Given the description of an element on the screen output the (x, y) to click on. 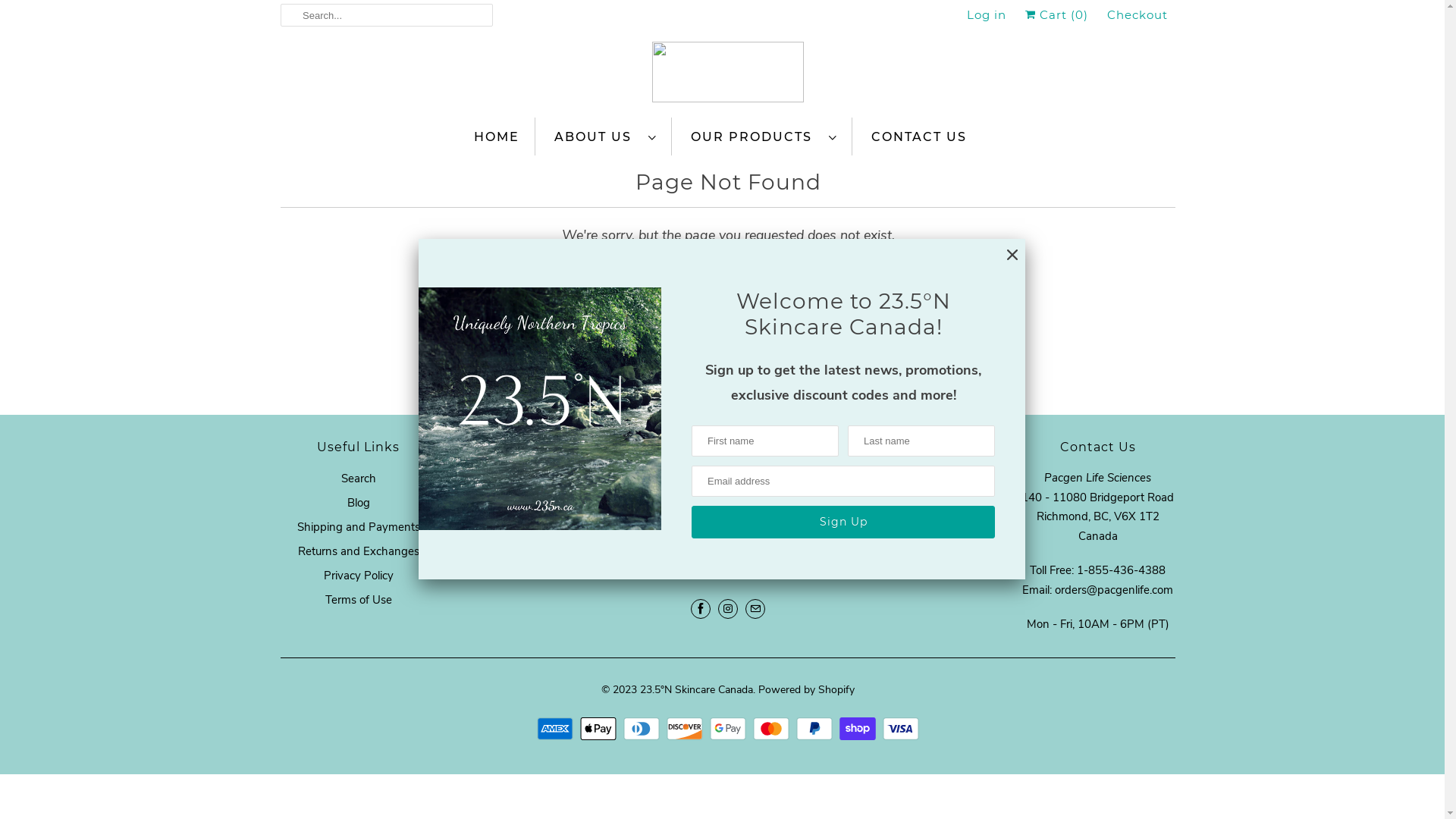
Sign Up Element type: text (848, 562)
Checkout Element type: text (1137, 14)
Sign Up Element type: text (842, 521)
HOME Element type: text (496, 136)
Cart (0) Element type: text (1056, 14)
Privacy Policy Element type: text (357, 575)
continue shopping Element type: text (778, 277)
Returns and Exchanges Element type: text (357, 550)
Log in Element type: text (986, 14)
Search Element type: text (358, 478)
Powered by Shopify Element type: text (806, 683)
Close Element type: hover (1012, 254)
Terms of Use Element type: text (357, 599)
OUR PRODUCTS  Element type: text (763, 136)
ABOUT US  Element type: text (604, 136)
Shipping and Payments Element type: text (358, 526)
Blog Element type: text (358, 502)
CONTACT US Element type: text (918, 136)
